Given the description of an element on the screen output the (x, y) to click on. 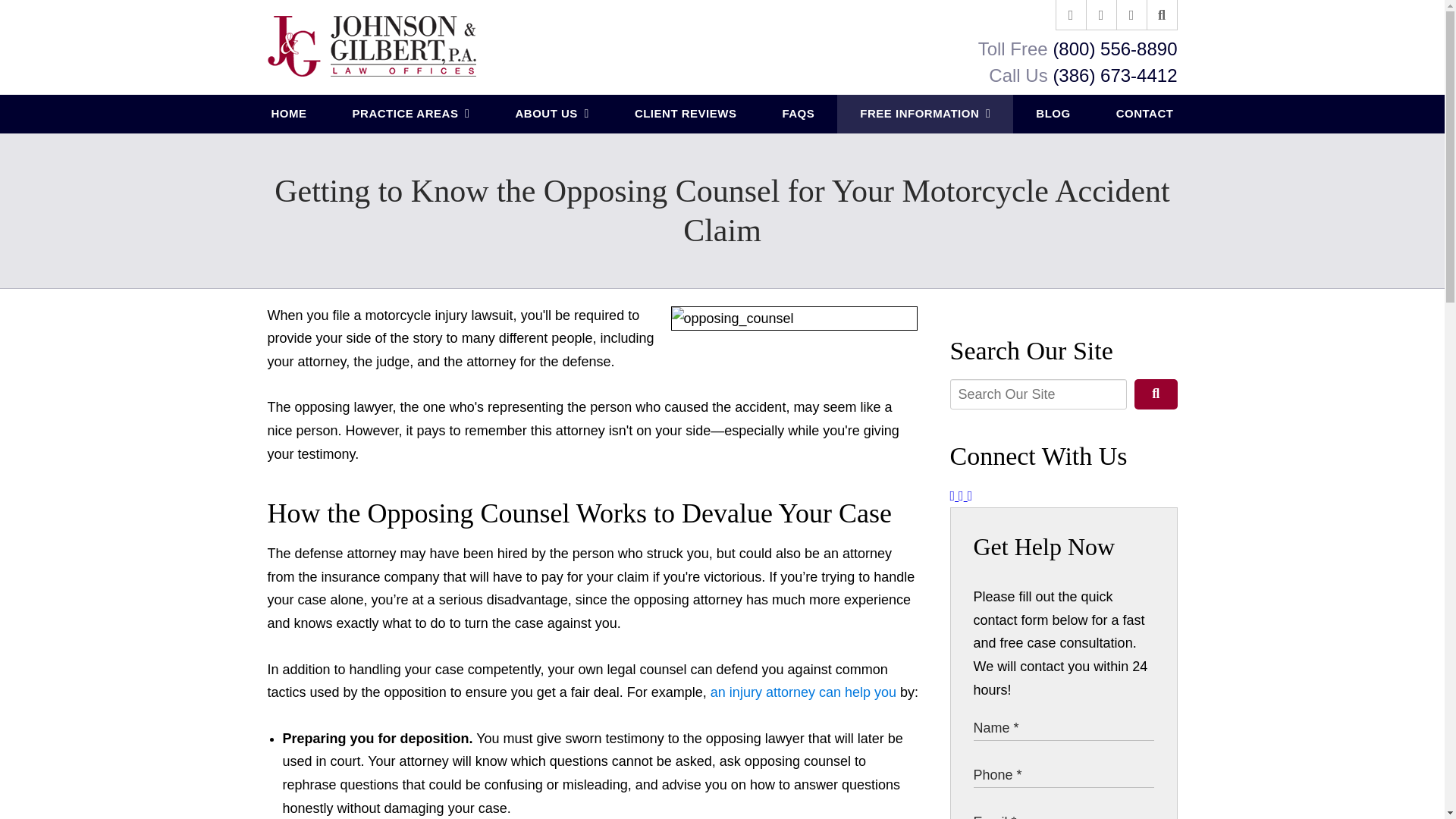
CLIENT REVIEWS (685, 114)
CONTACT (1144, 114)
an injury attorney can help you (803, 692)
HOME (289, 114)
ABOUT US (551, 114)
PRACTICE AREAS (411, 114)
FREE INFORMATION (925, 114)
FAQS (797, 114)
Search (1155, 394)
BLOG (1053, 114)
Search (1161, 15)
